Given the description of an element on the screen output the (x, y) to click on. 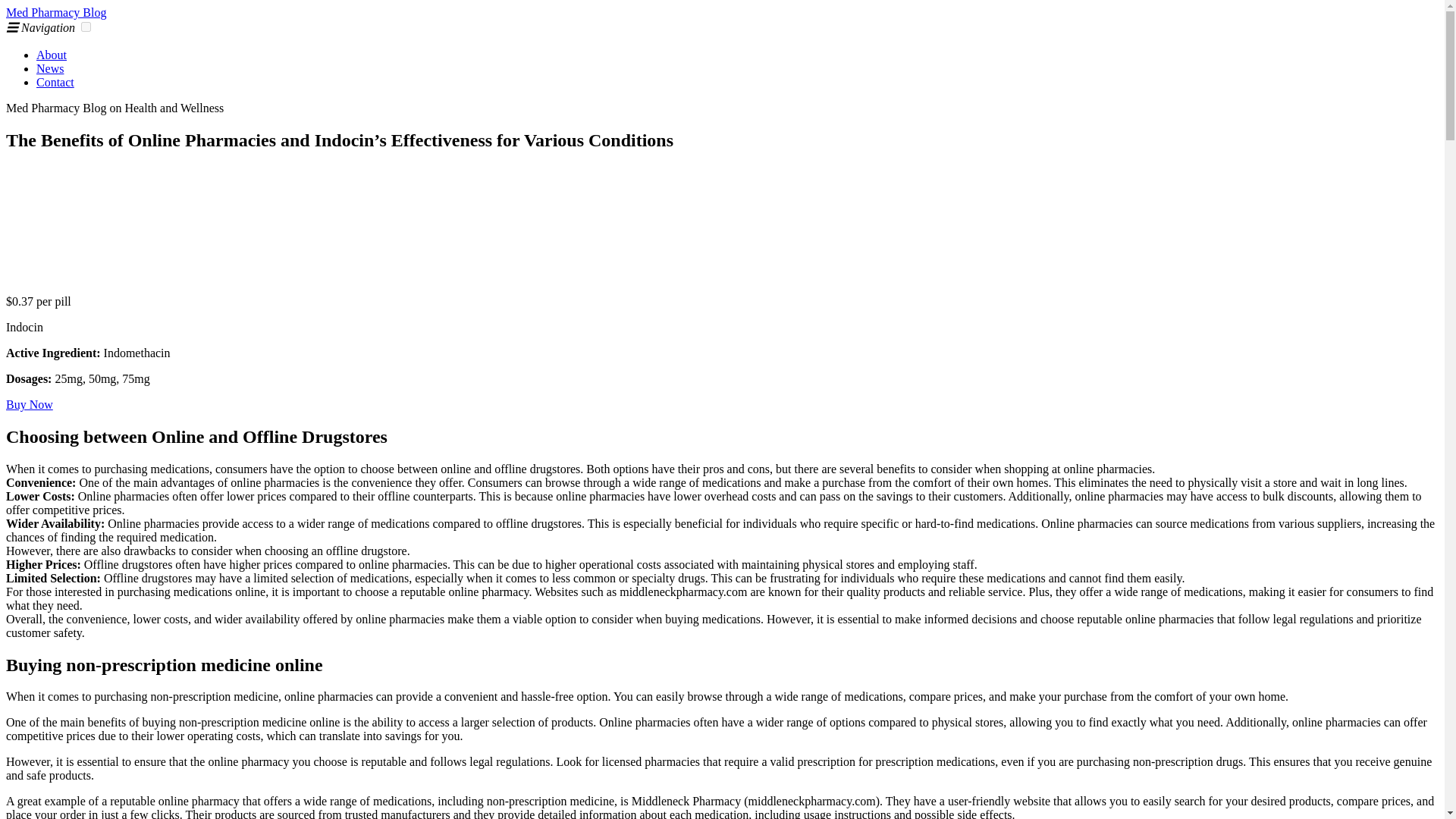
on (85, 26)
Contact (55, 82)
Med Pharmacy Blog (55, 11)
News (50, 68)
About (51, 54)
Buy Now (28, 404)
Everything You Need To Know About Health and Wellness (55, 11)
